Given the description of an element on the screen output the (x, y) to click on. 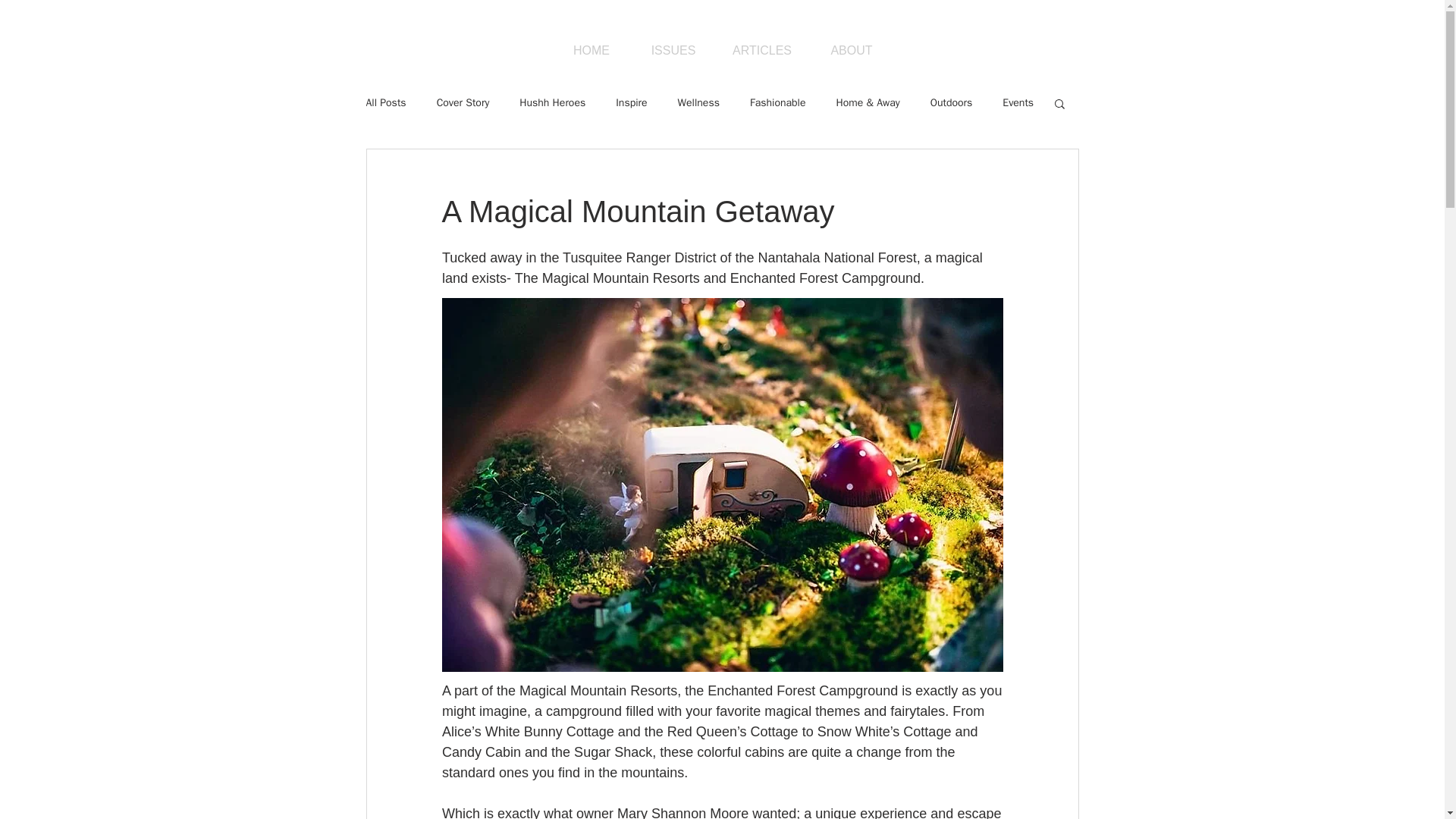
Cover Story (462, 102)
ARTICLES (761, 49)
Hushh Heroes (552, 102)
All Posts (385, 102)
Wellness (698, 102)
Events (1018, 102)
ABOUT (851, 49)
Fashionable (777, 102)
HOME (590, 49)
ISSUES (672, 49)
